Given the description of an element on the screen output the (x, y) to click on. 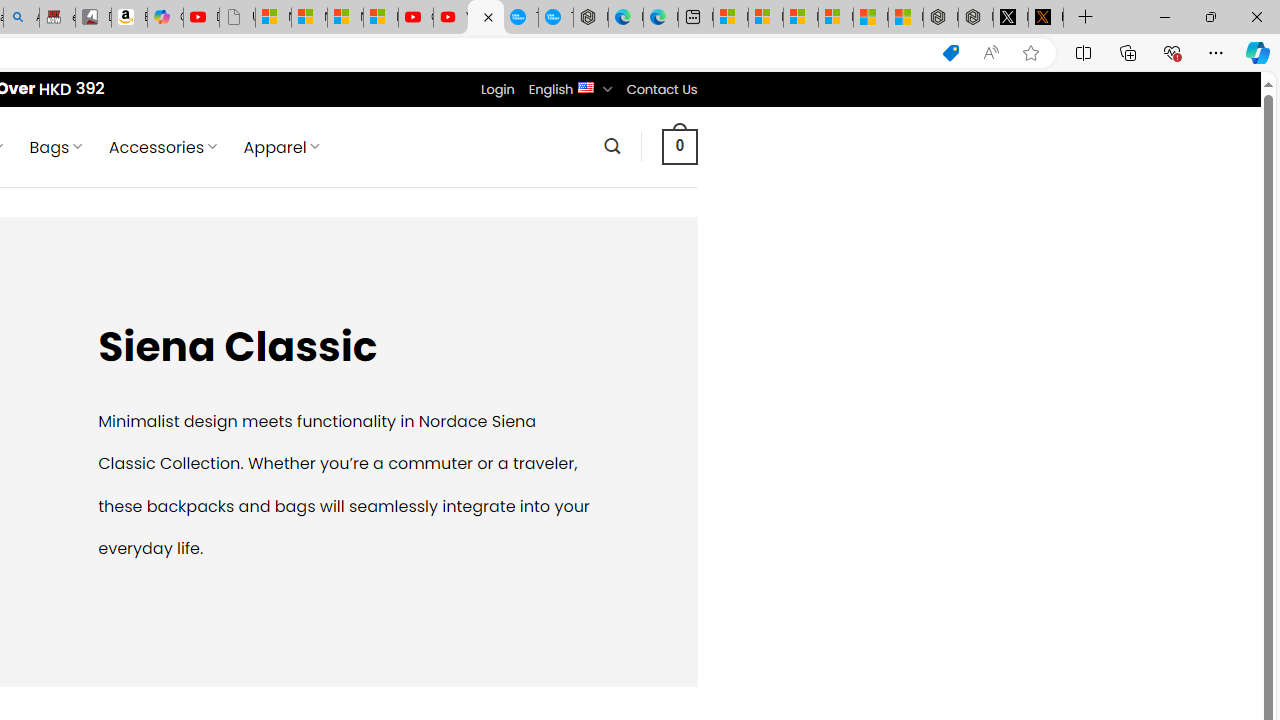
Contact Us (661, 89)
The most popular Google 'how to' searches (555, 17)
help.x.com | 524: A timeout occurred (1046, 17)
 0  (679, 146)
Contact Us (661, 89)
